Given the description of an element on the screen output the (x, y) to click on. 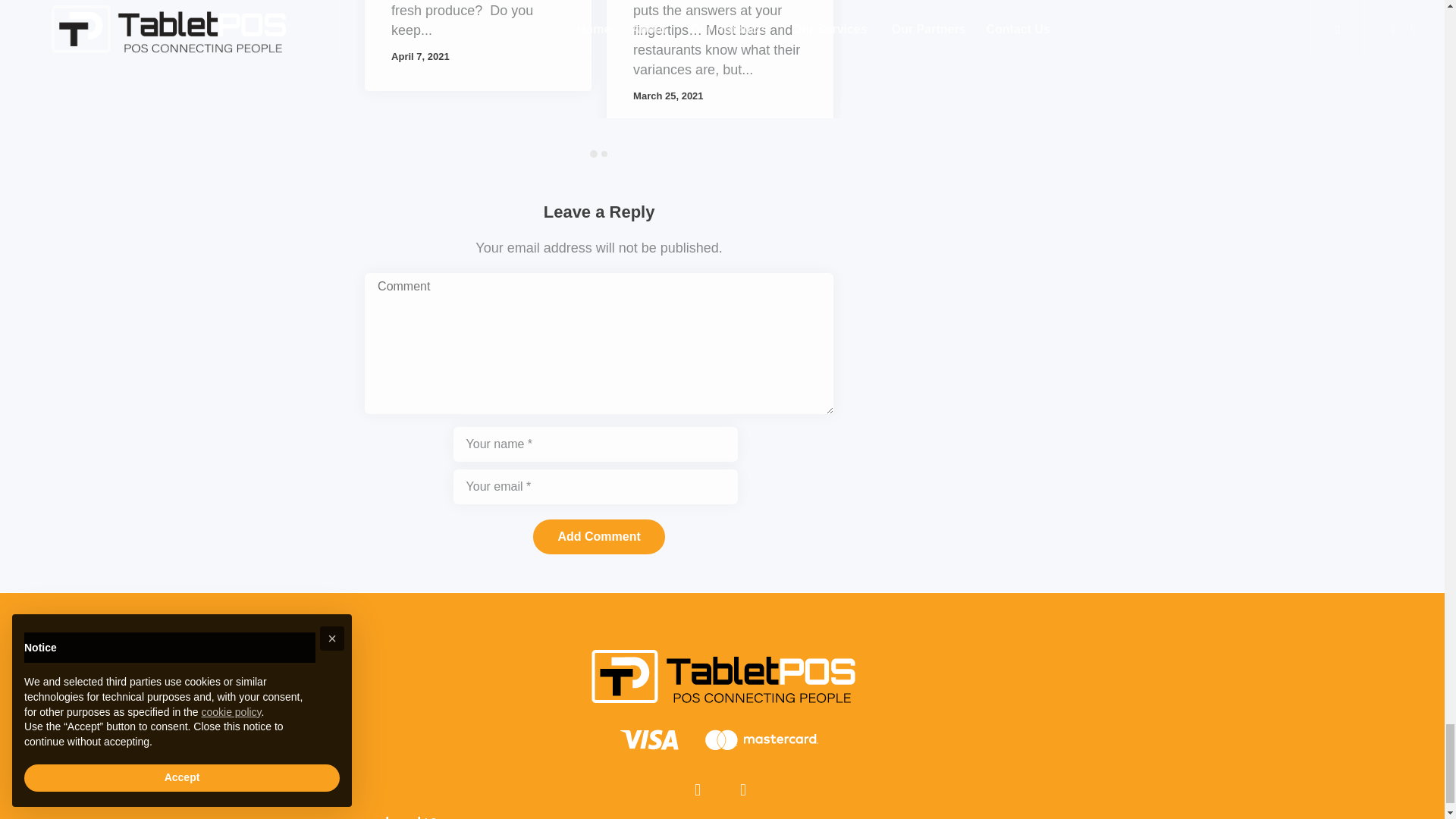
Add Comment (597, 536)
April 7, 2021 (420, 56)
March 25, 2021 (668, 95)
